Given the description of an element on the screen output the (x, y) to click on. 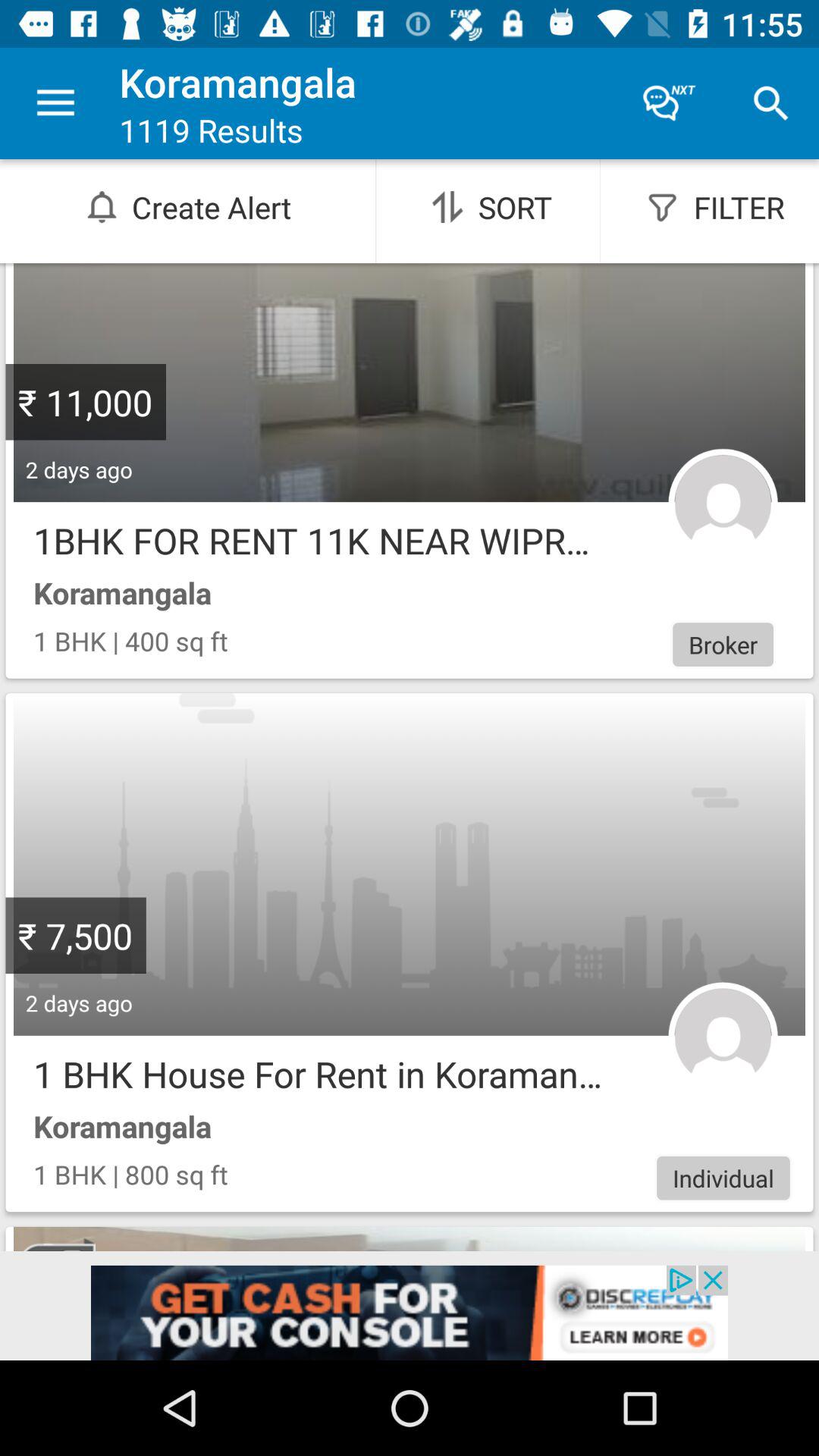
open an advertisement (409, 1312)
